Given the description of an element on the screen output the (x, y) to click on. 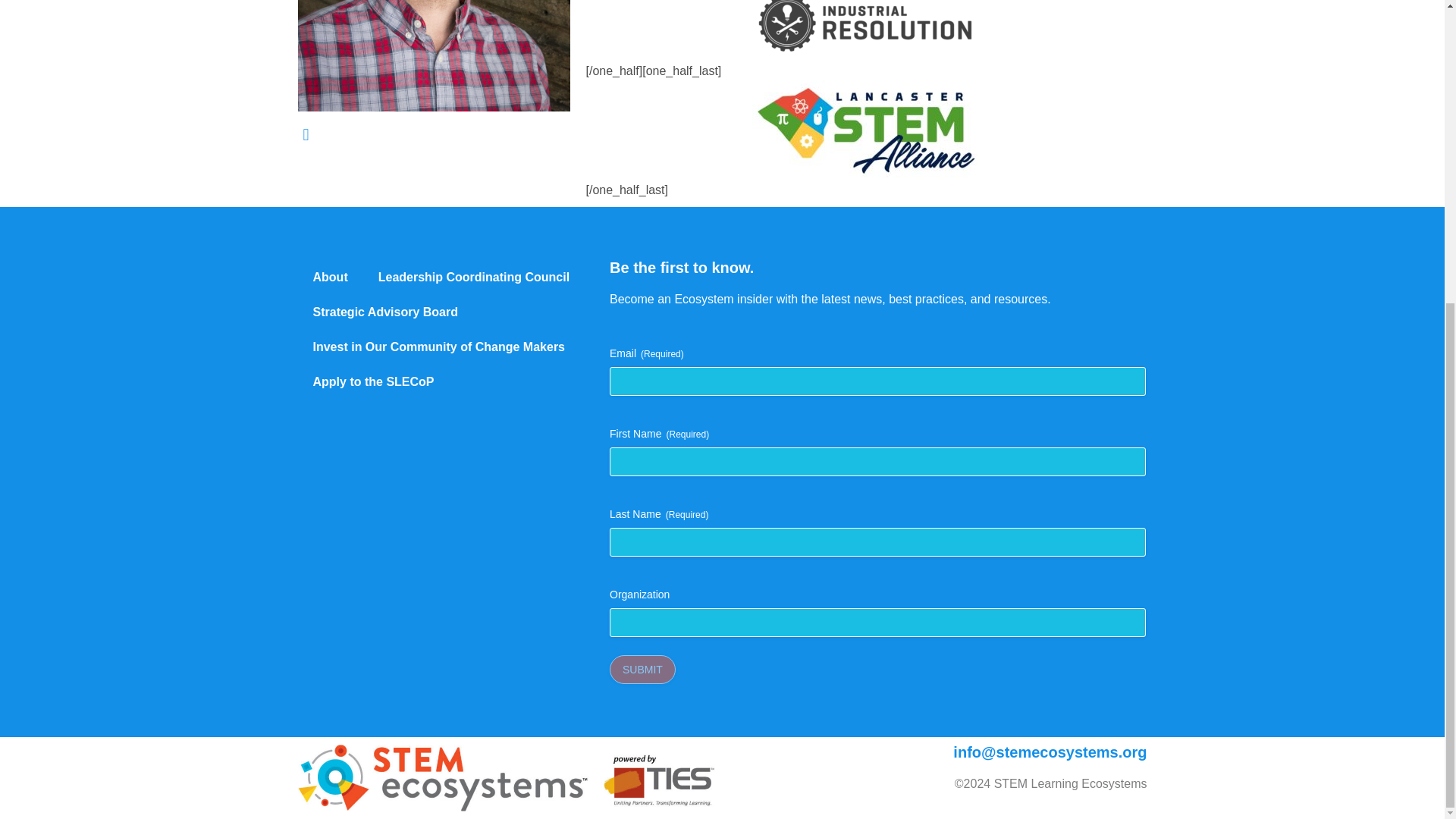
Submit (642, 669)
Strategic Advisory Board (384, 312)
Leadership Coordinating Council (473, 277)
Invest in Our Community of Change Makers (438, 347)
Apply to the SLECoP (372, 381)
Submit (642, 669)
About (329, 277)
